Given the description of an element on the screen output the (x, y) to click on. 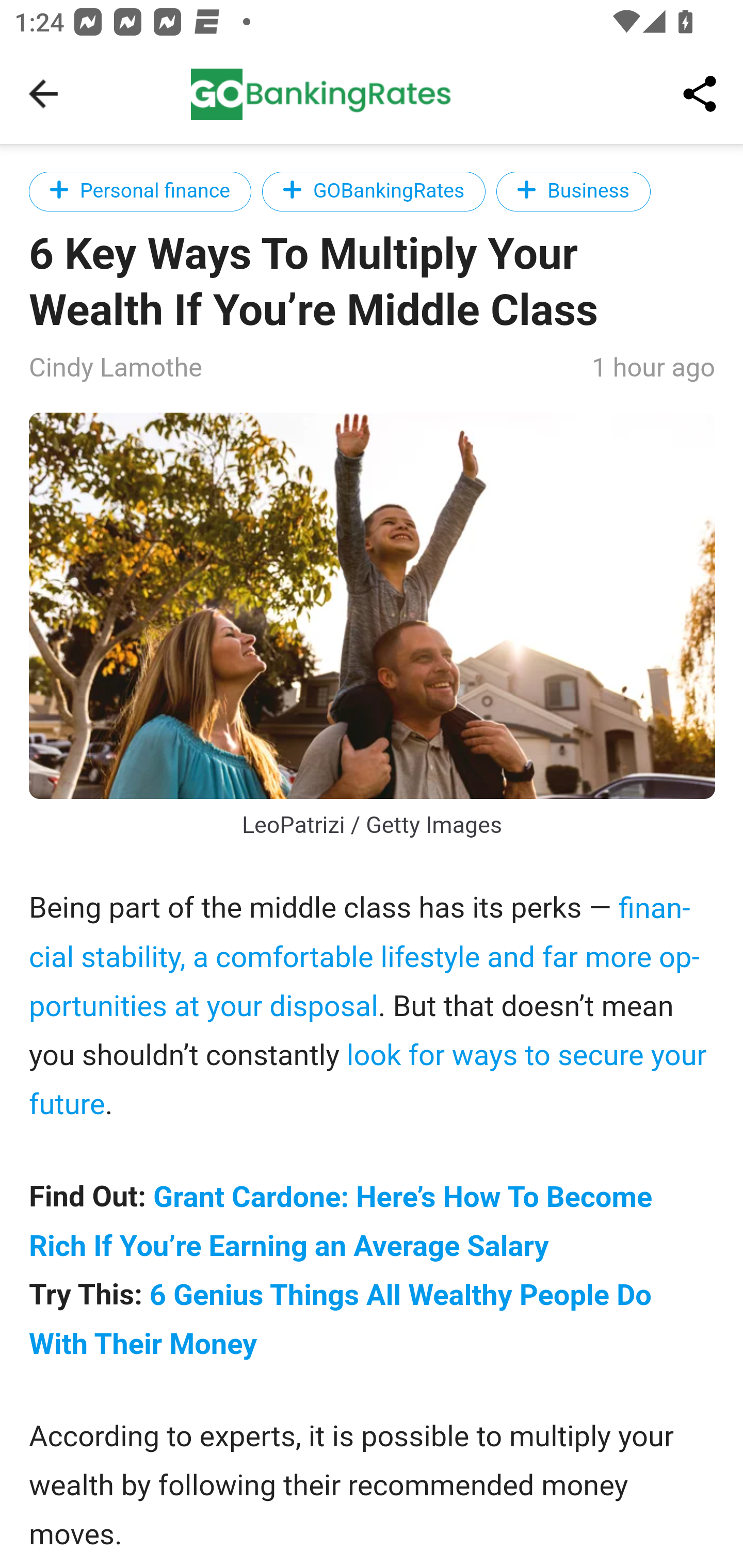
Personal finance (140, 191)
GOBankingRates (373, 191)
Business (572, 191)
look for ways to secure your future (368, 1080)
